Given the description of an element on the screen output the (x, y) to click on. 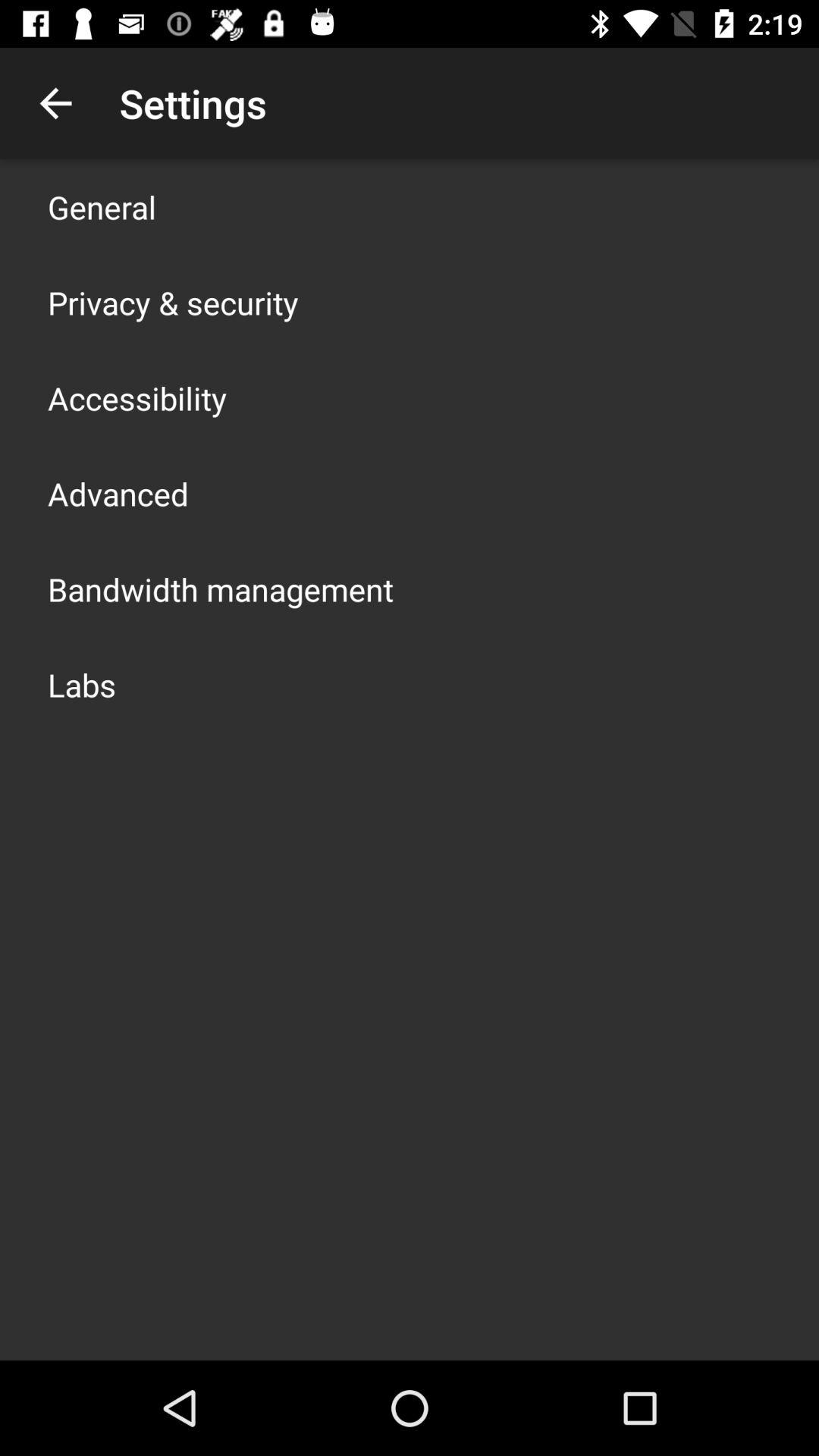
click app to the left of settings app (55, 103)
